Given the description of an element on the screen output the (x, y) to click on. 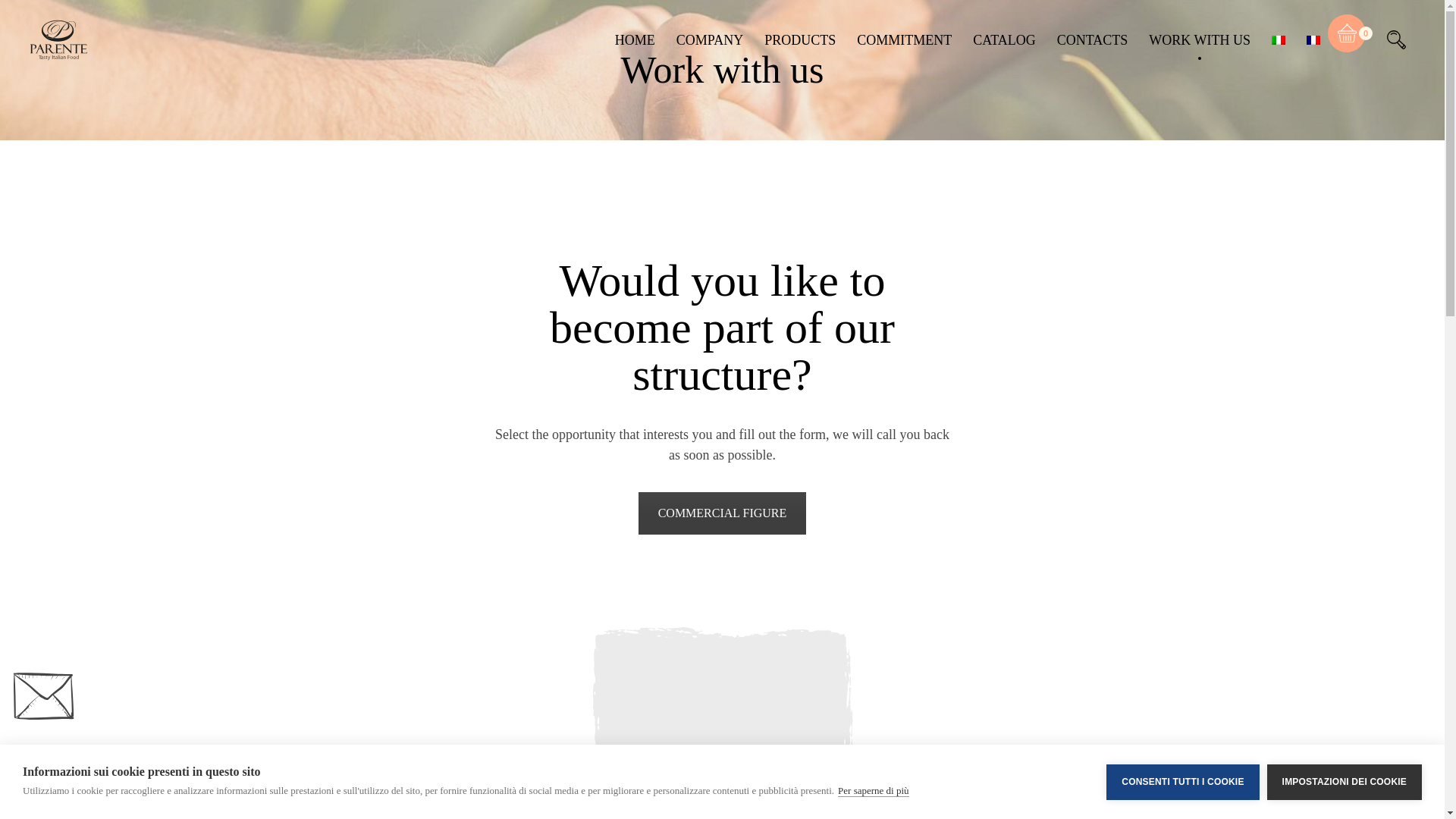
HOME (634, 39)
CONTACTS (1092, 39)
COMPANY (709, 39)
COMMITMENT (904, 39)
WORK WITH US (1199, 39)
Commercial figure (722, 513)
CATALOG (1003, 39)
PRODUCTS (799, 39)
